Given the description of an element on the screen output the (x, y) to click on. 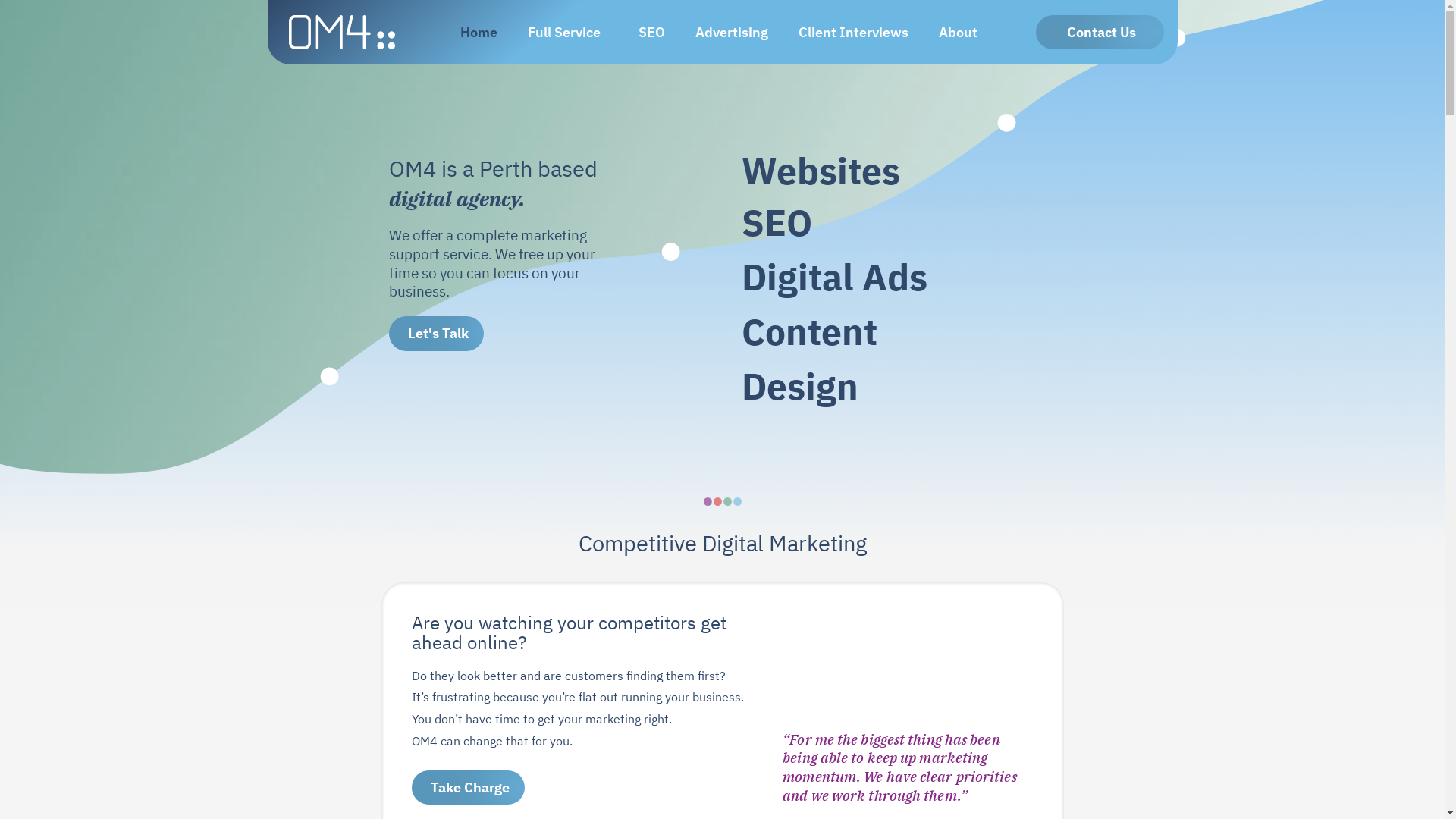
Take Charge Element type: text (467, 787)
SEO Element type: text (651, 32)
Client Interviews Element type: text (852, 32)
Contact Us Element type: text (1099, 32)
Let's Talk Element type: text (435, 333)
Full Service Element type: text (567, 32)
Home Element type: text (477, 32)
Advertising Element type: text (730, 32)
About Element type: text (961, 32)
